Given the description of an element on the screen output the (x, y) to click on. 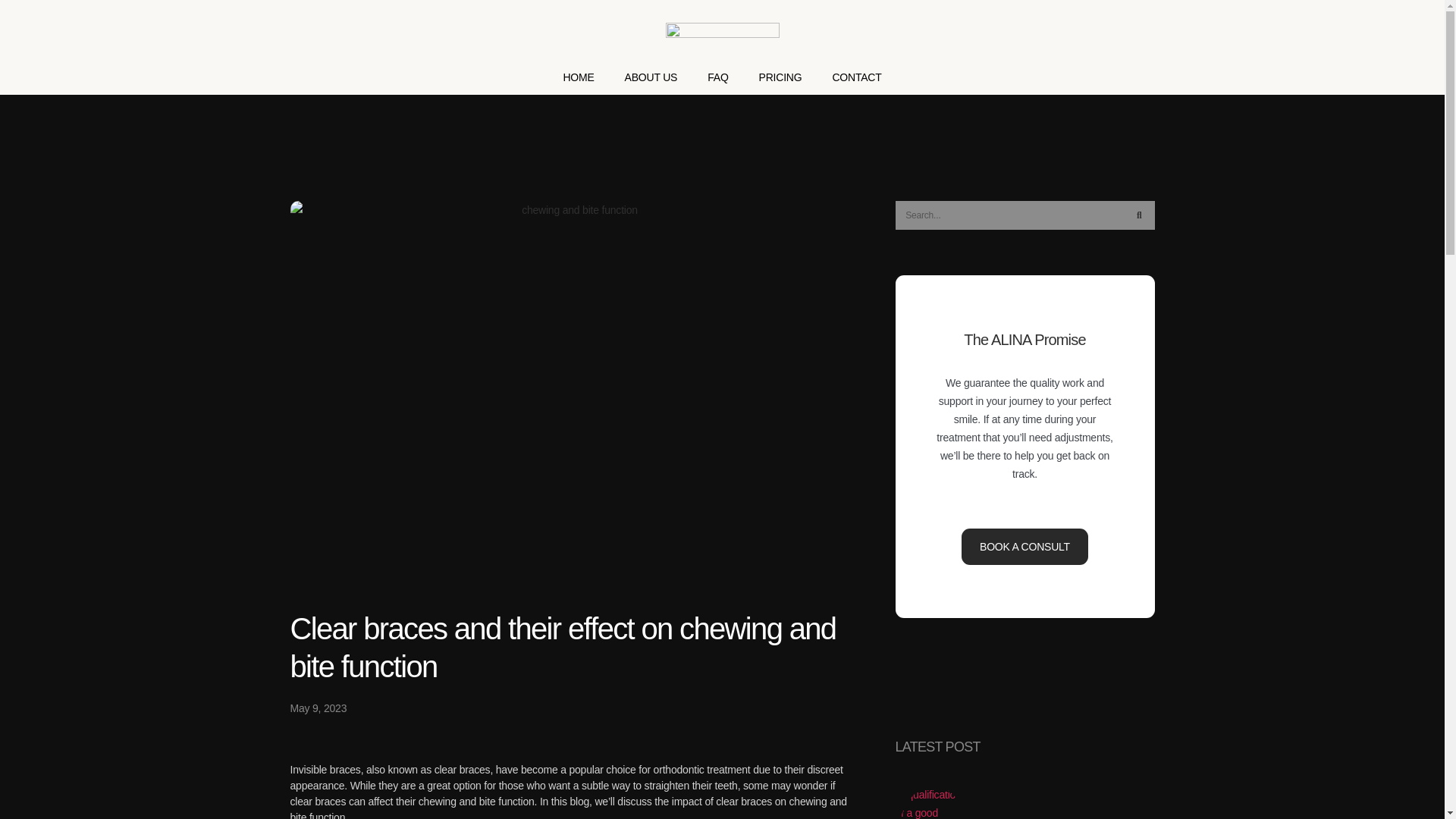
CONTACT (855, 77)
BOOK A CONSULT (1023, 546)
HOME (578, 77)
ABOUT US (651, 77)
PRICING (780, 77)
